Given the description of an element on the screen output the (x, y) to click on. 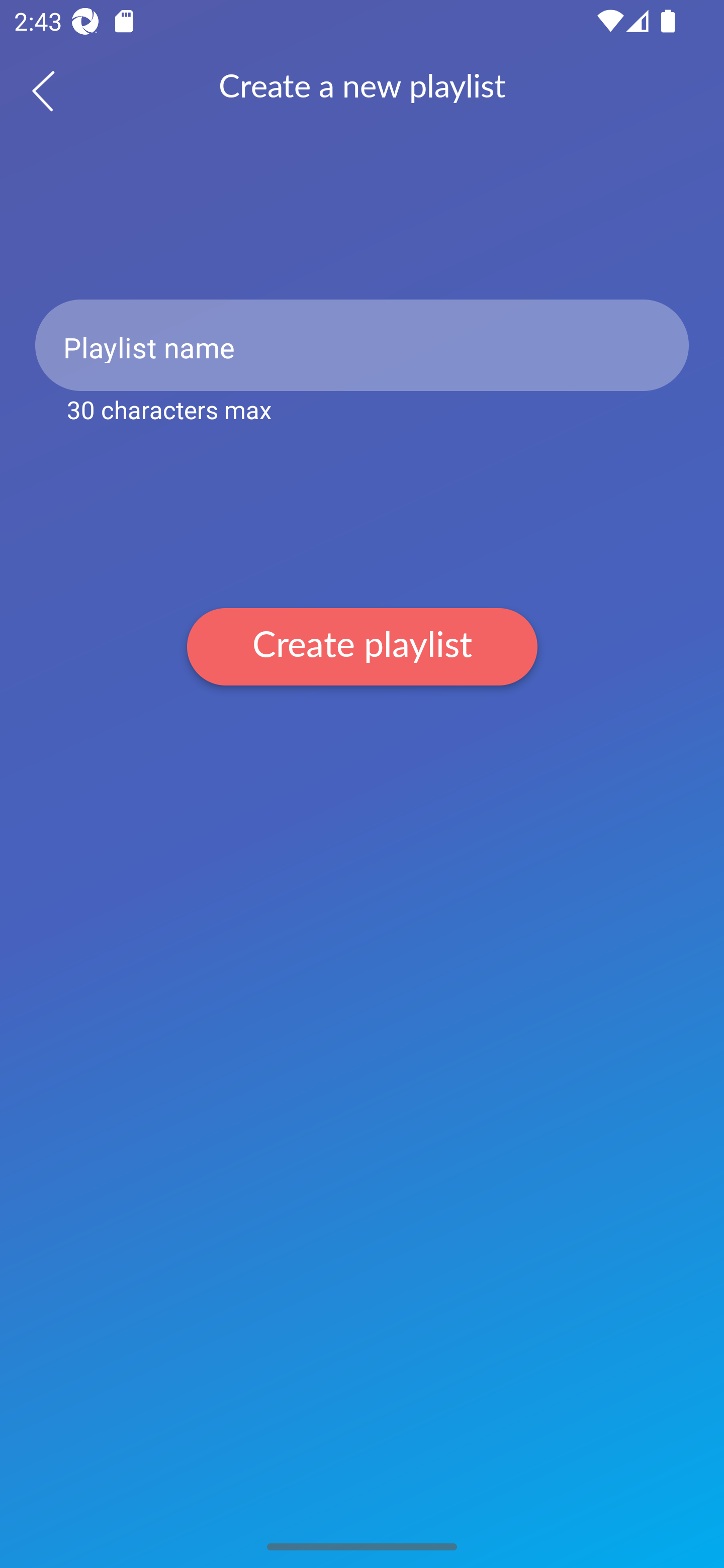
Playlist name (361, 344)
Create playlist (362, 646)
